Given the description of an element on the screen output the (x, y) to click on. 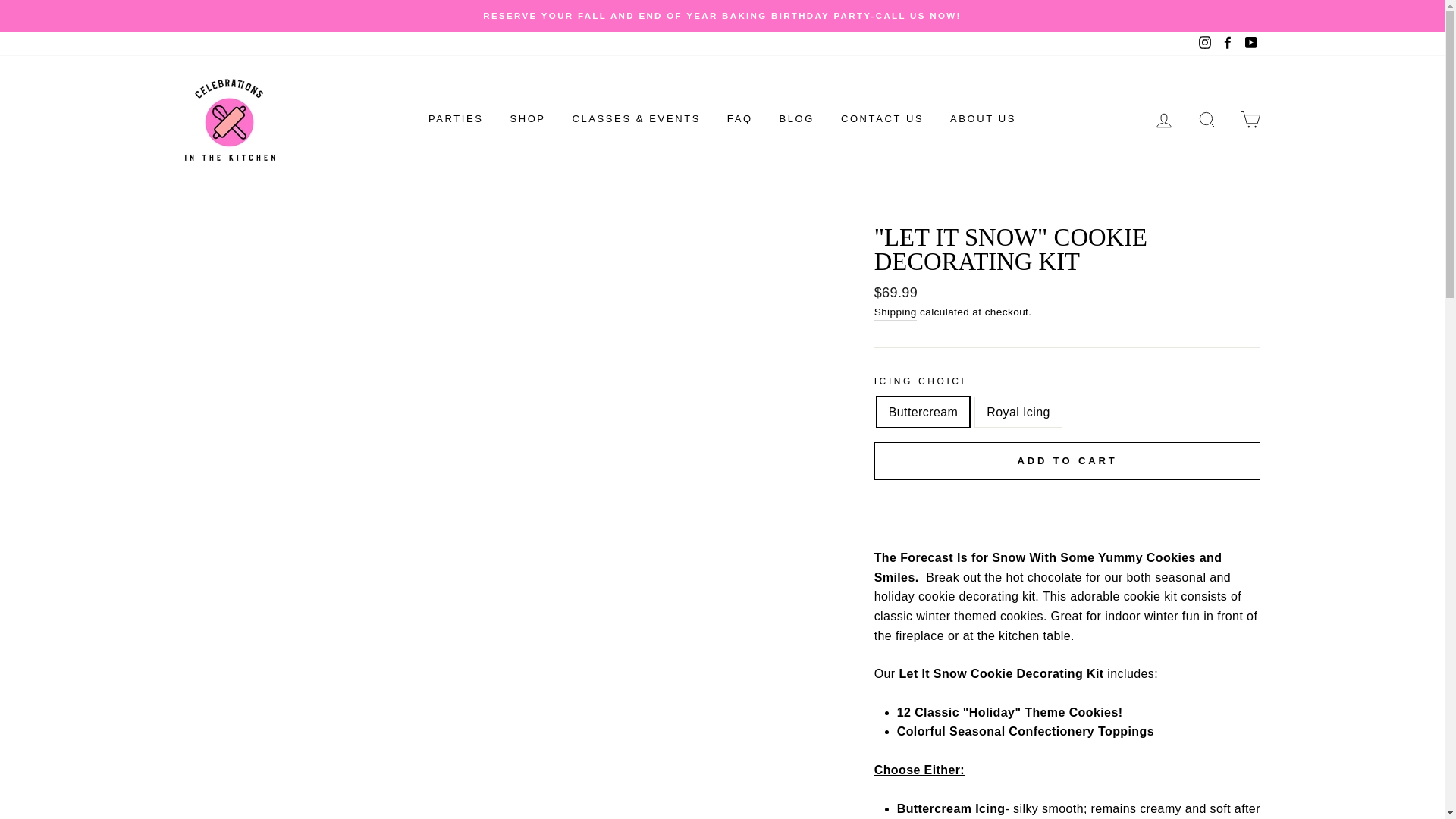
SHOP (526, 119)
PARTIES (455, 119)
